Given the description of an element on the screen output the (x, y) to click on. 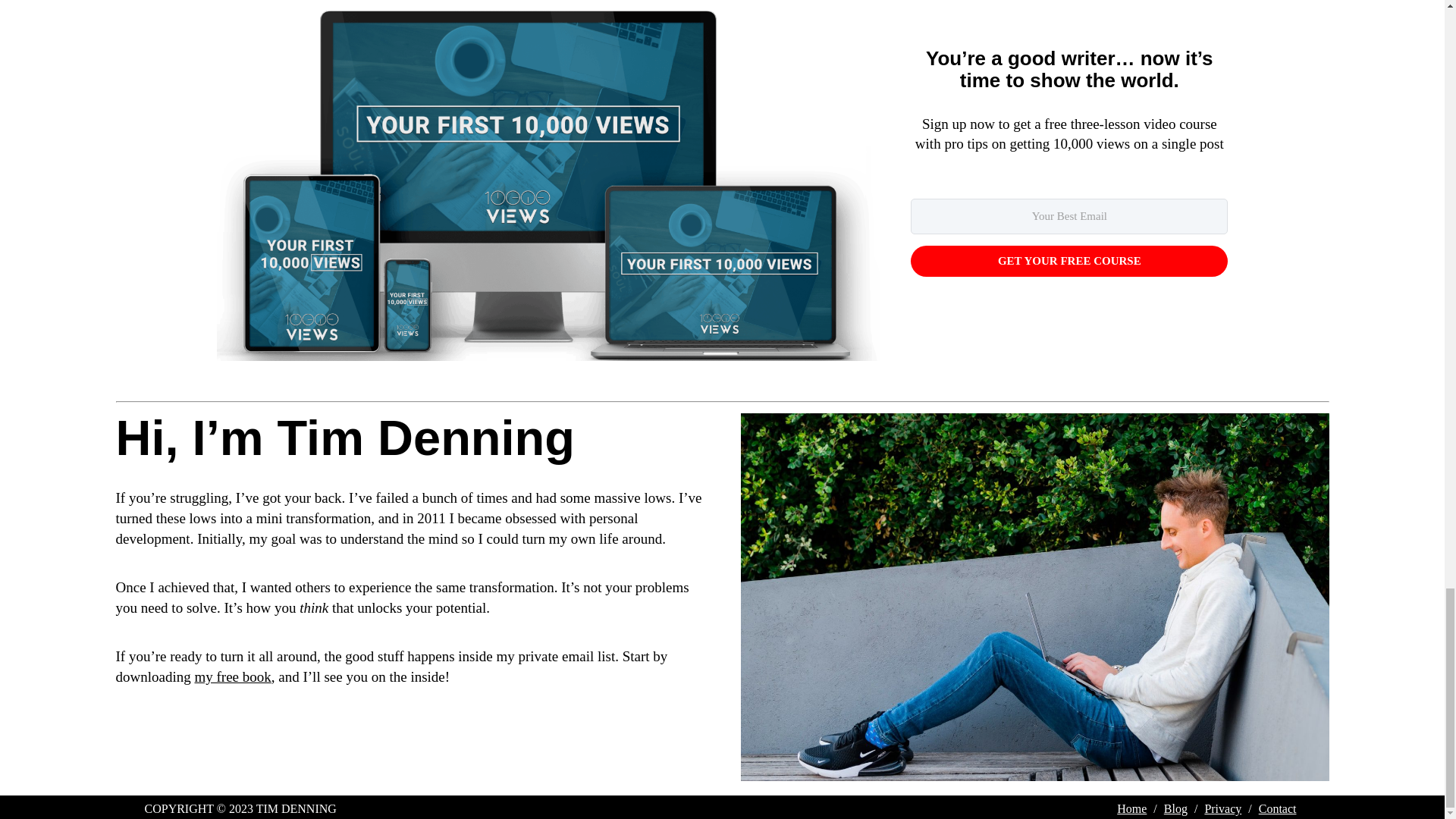
my free book (231, 676)
GET YOUR FREE COURSE (1069, 260)
